Given the description of an element on the screen output the (x, y) to click on. 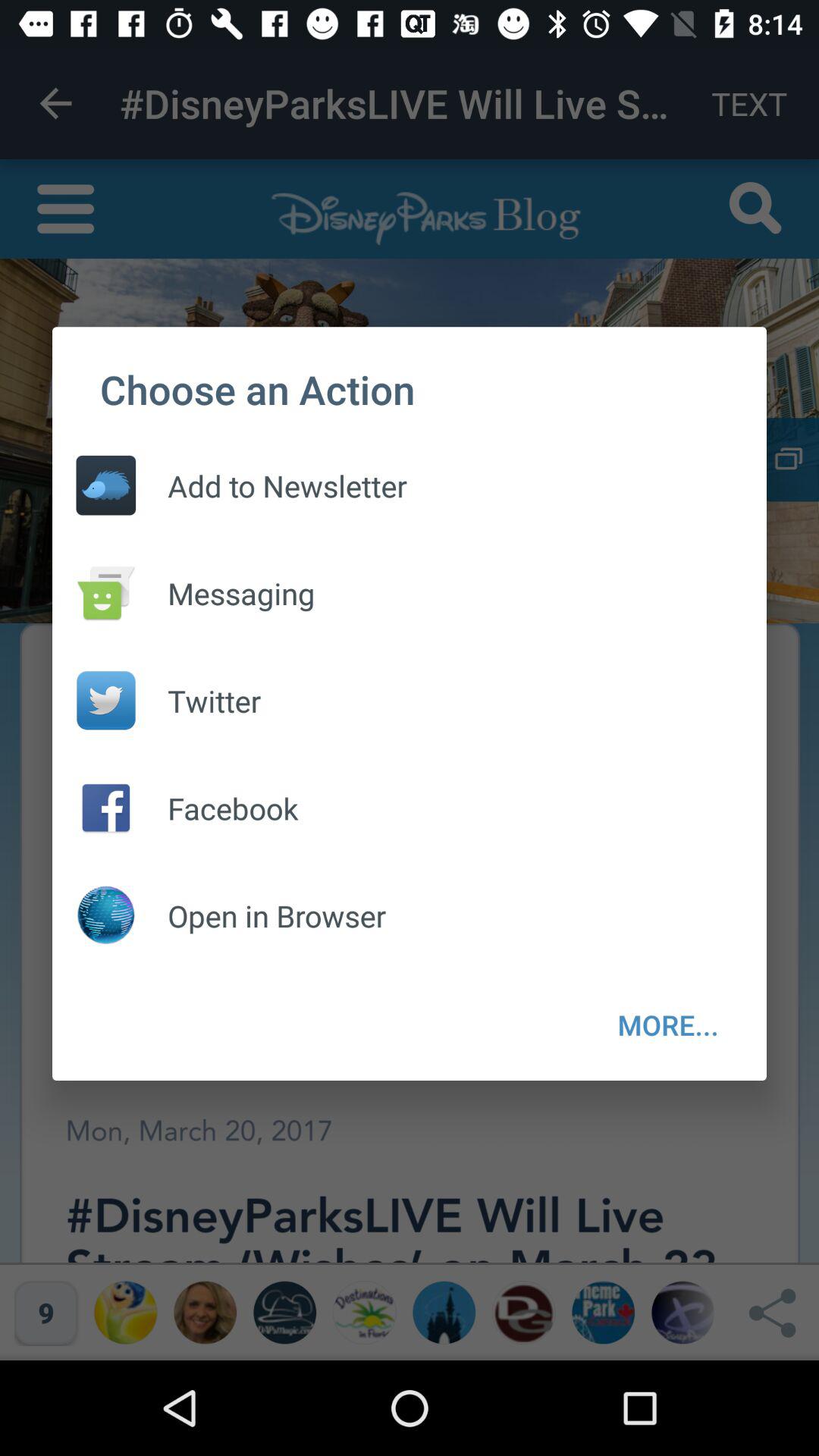
scroll until add to newsletter icon (271, 485)
